Given the description of an element on the screen output the (x, y) to click on. 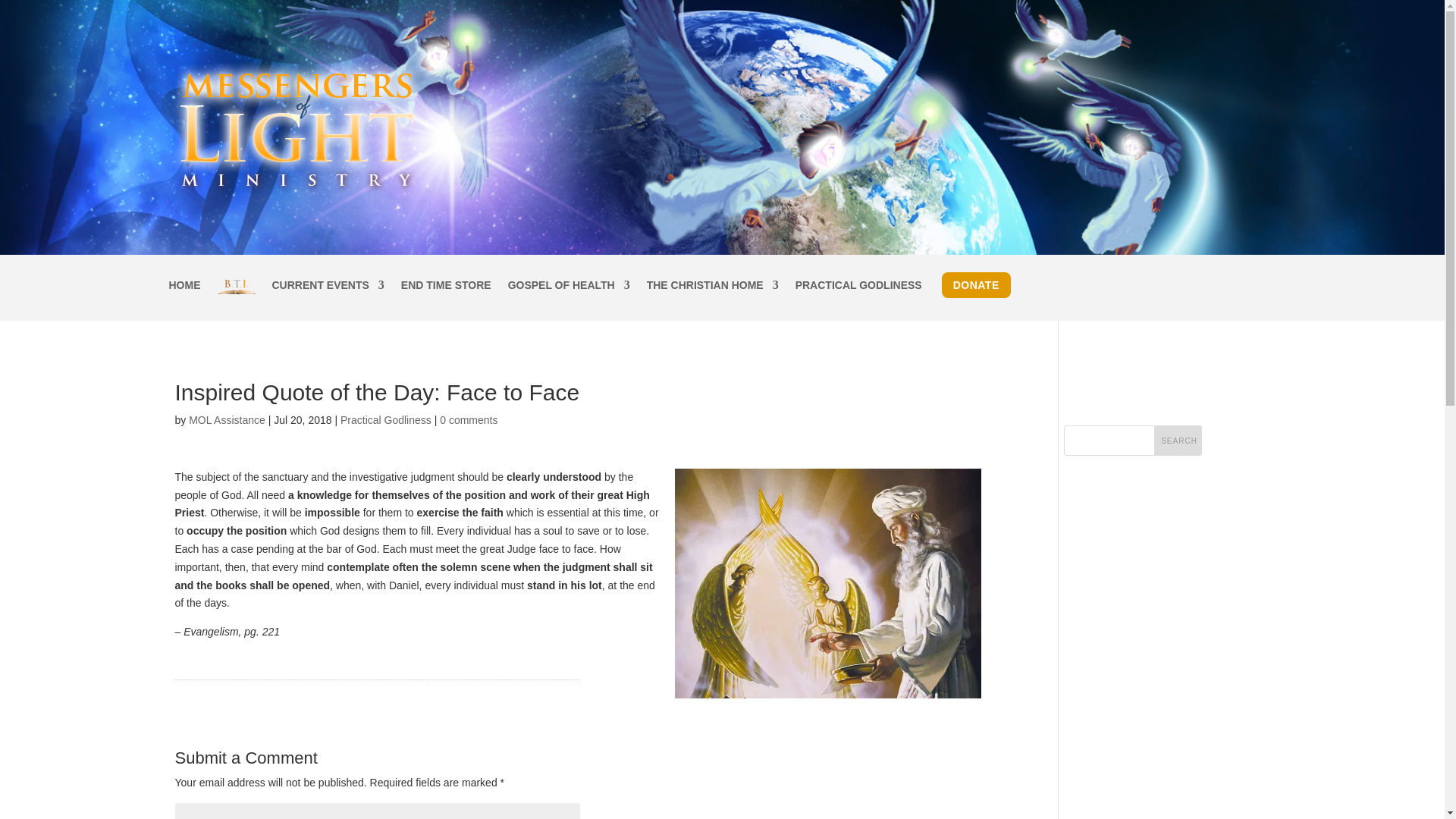
CURRENT EVENTS (327, 300)
PRACTICAL GODLINESS (857, 300)
Search (1178, 440)
GOSPEL OF HEALTH (569, 300)
DONATE (976, 284)
THE CHRISTIAN HOME (712, 300)
logo (296, 127)
END TIME STORE (446, 300)
Posts by MOL Assistance (226, 419)
